Given the description of an element on the screen output the (x, y) to click on. 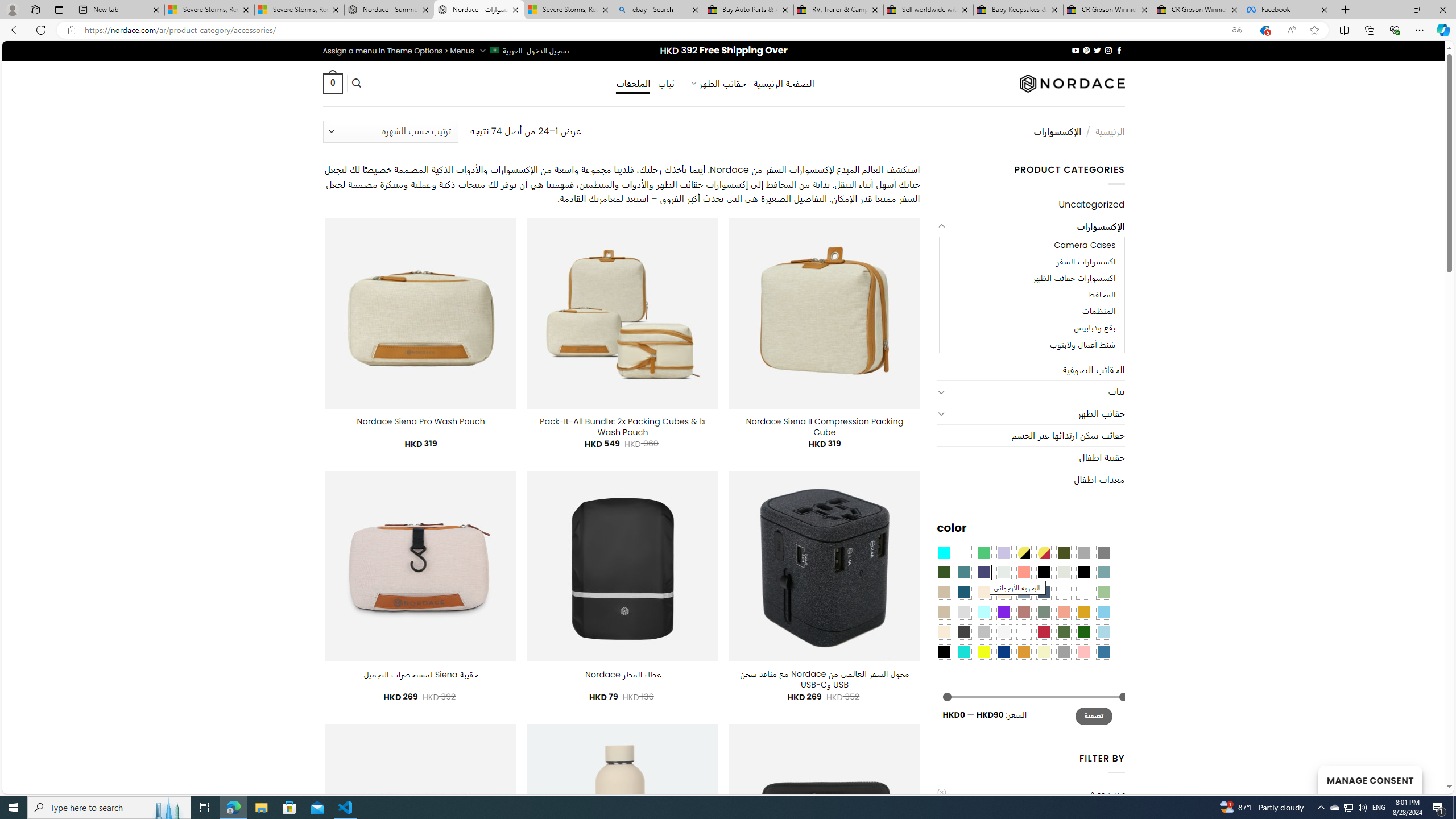
Aqua Blue (944, 551)
  0   (332, 83)
